Given the description of an element on the screen output the (x, y) to click on. 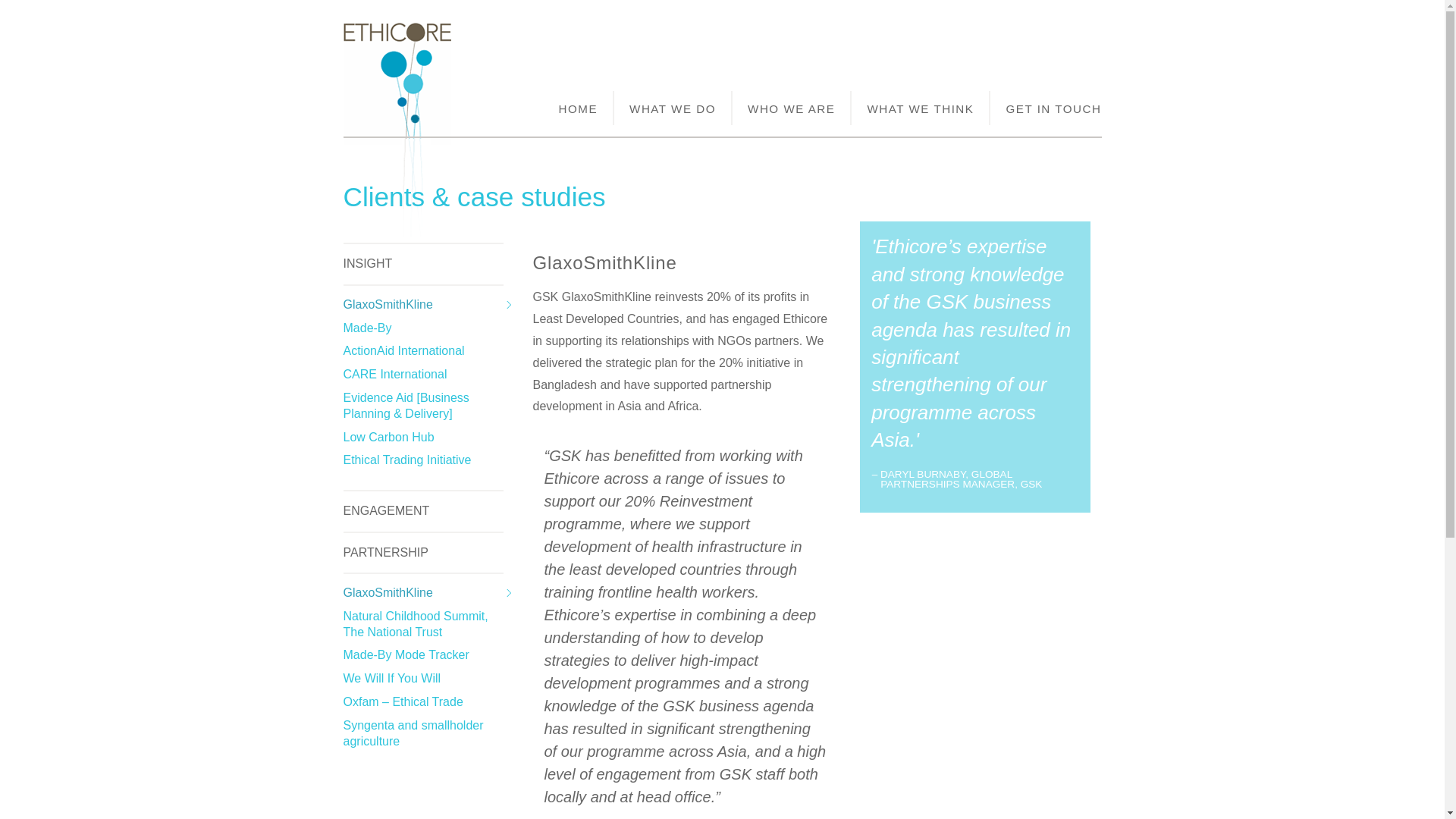
GET IN TOUCH (1045, 107)
Low Carbon Hub (387, 436)
WHO WE ARE (791, 107)
CARE International (394, 373)
ActionAid International (403, 350)
Ethical Trading Initiative (406, 459)
Made-By (366, 327)
HOME (578, 107)
WHAT WE THINK (920, 107)
WHAT WE DO (673, 107)
